Given the description of an element on the screen output the (x, y) to click on. 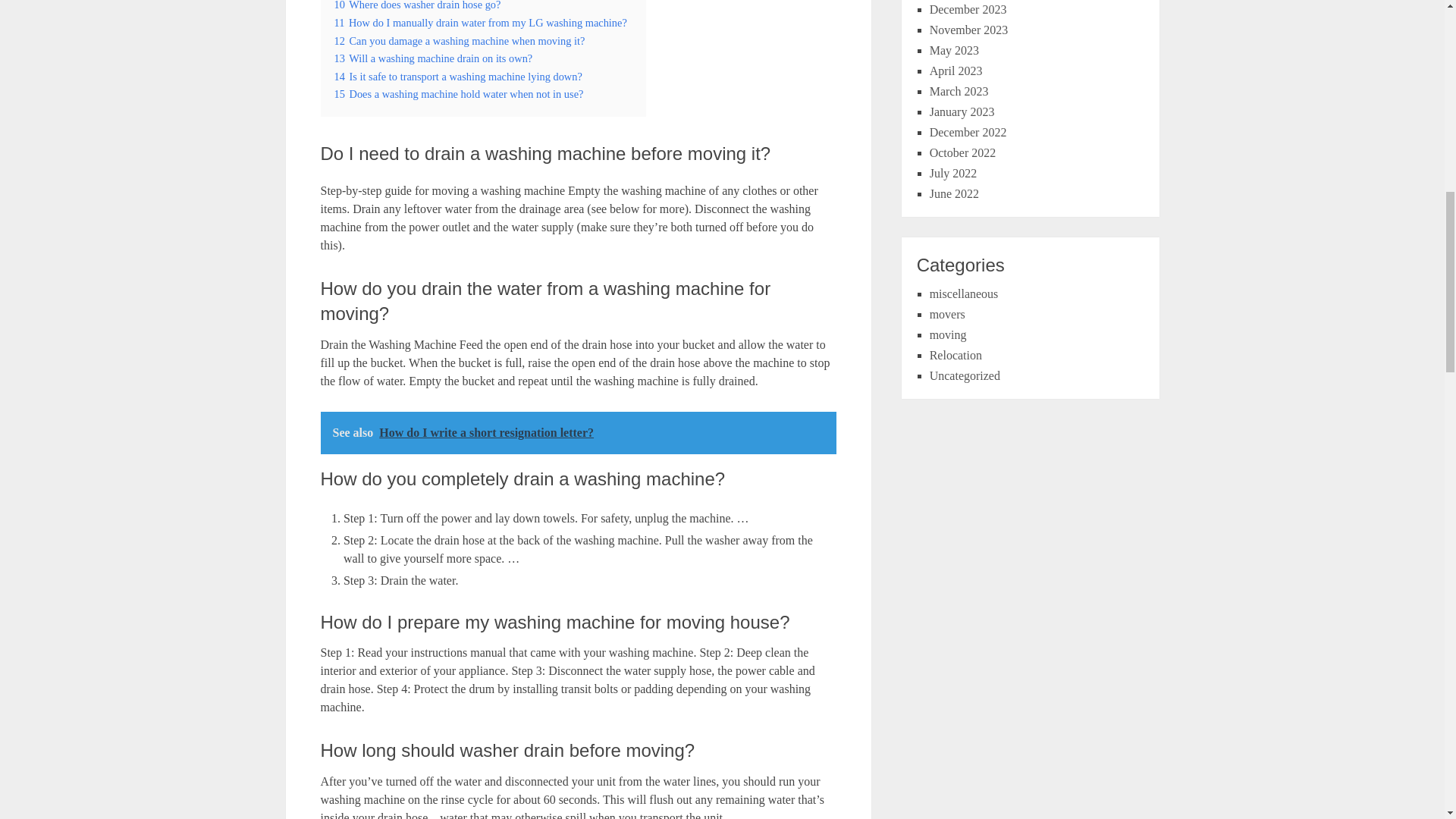
11 How do I manually drain water from my LG washing machine? (479, 22)
12 Can you damage a washing machine when moving it? (459, 40)
15 Does a washing machine hold water when not in use? (458, 93)
14 Is it safe to transport a washing machine lying down? (456, 76)
13 Will a washing machine drain on its own? (432, 58)
10 Where does washer drain hose go? (416, 5)
See also  How do I write a short resignation letter? (577, 432)
